Given the description of an element on the screen output the (x, y) to click on. 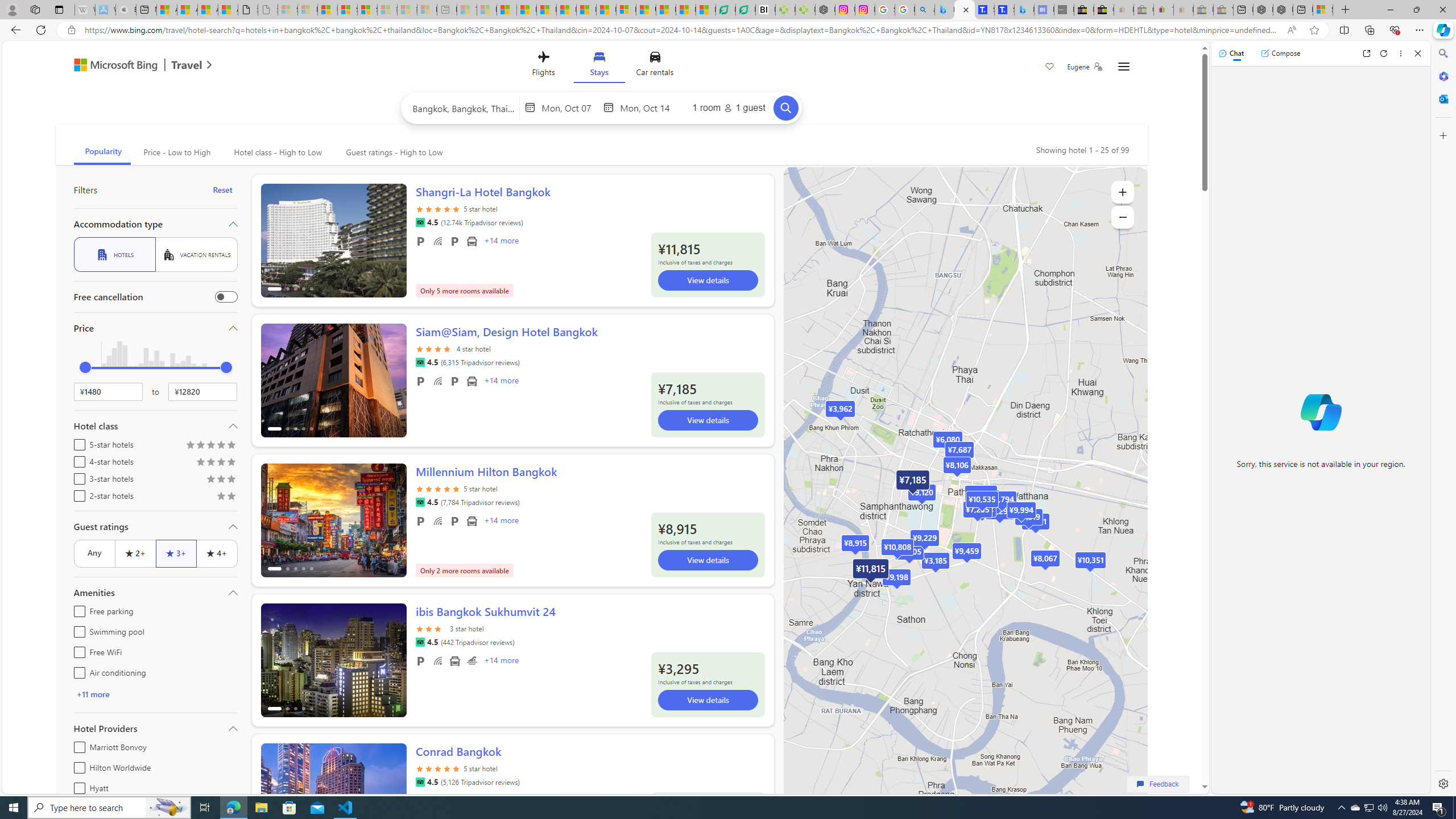
Foo BAR | Trusted Community Engagement and Contributions (606, 9)
Rating (231, 496)
Any (93, 553)
4-star hotels (76, 459)
Tripadvisor (419, 781)
Free parking (76, 609)
Save (1049, 67)
Yard, Garden & Outdoor Living - Sleeping (1222, 9)
Guest ratings - High to Low (392, 152)
